Given the description of an element on the screen output the (x, y) to click on. 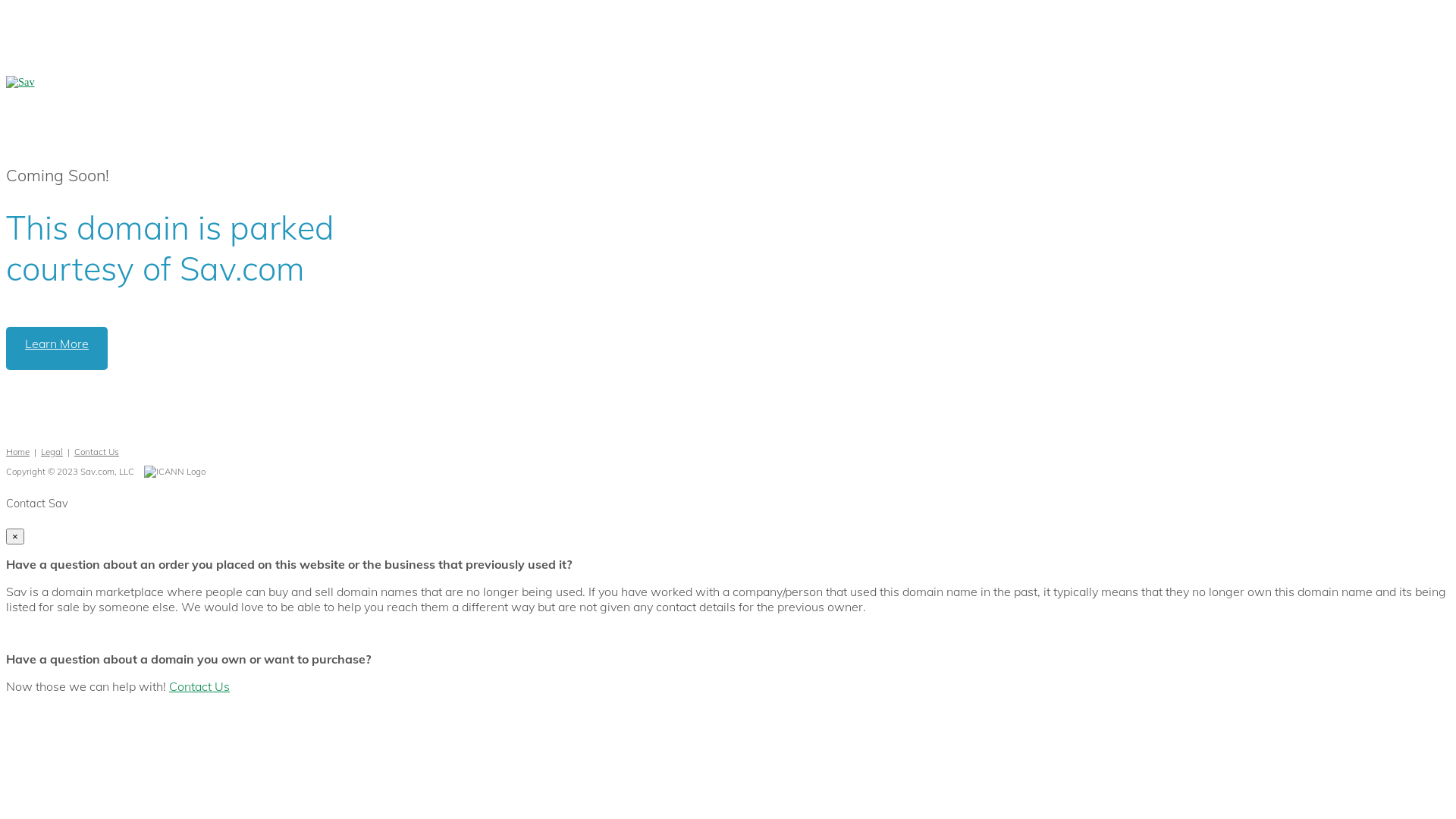
Legal Element type: text (51, 451)
Home Element type: text (17, 451)
Learn More Element type: text (56, 348)
Contact Us Element type: text (199, 685)
Contact Us Element type: text (96, 451)
